Given the description of an element on the screen output the (x, y) to click on. 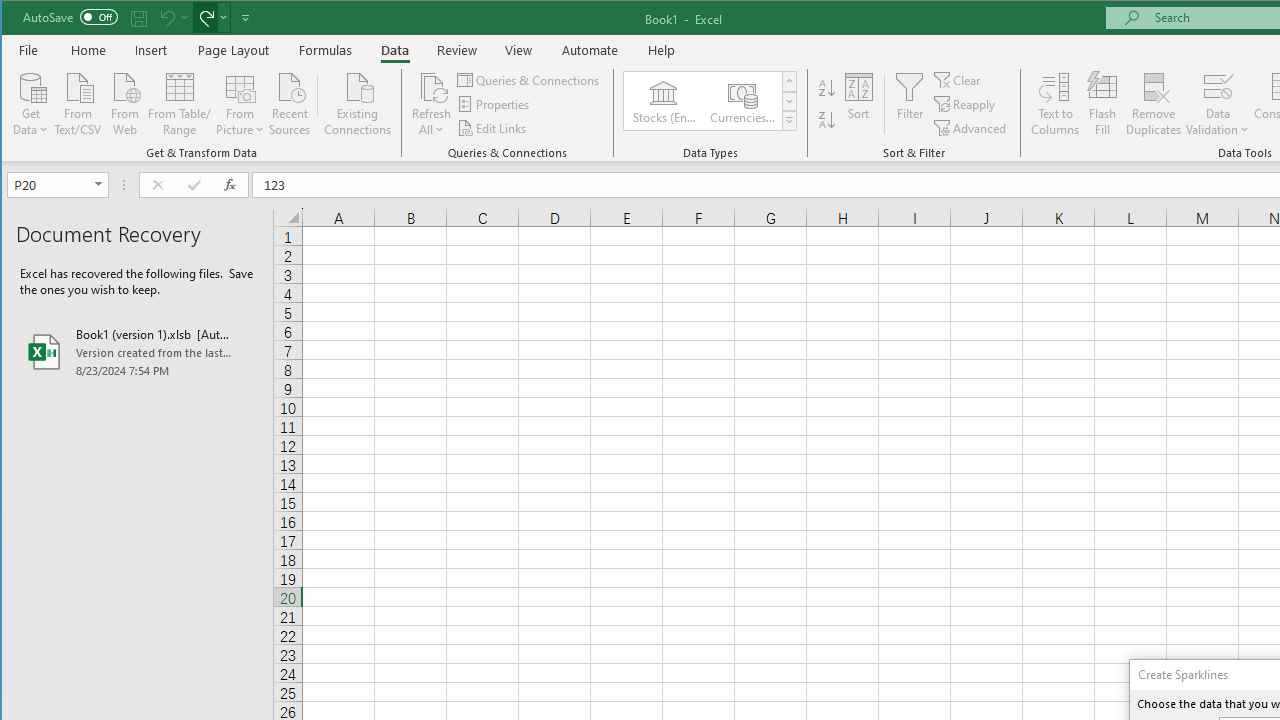
Sort Largest to Smallest (827, 119)
AutoSave (70, 16)
Data Validation... (1217, 104)
Data Types (789, 120)
Reapply (966, 103)
Filter (909, 104)
Edit Links (493, 127)
Currencies (English) (741, 100)
Sort Smallest to Largest (827, 88)
Clear (958, 80)
Recent Sources (290, 101)
Data Validation... (1217, 86)
Remove Duplicates (1153, 104)
